Given the description of an element on the screen output the (x, y) to click on. 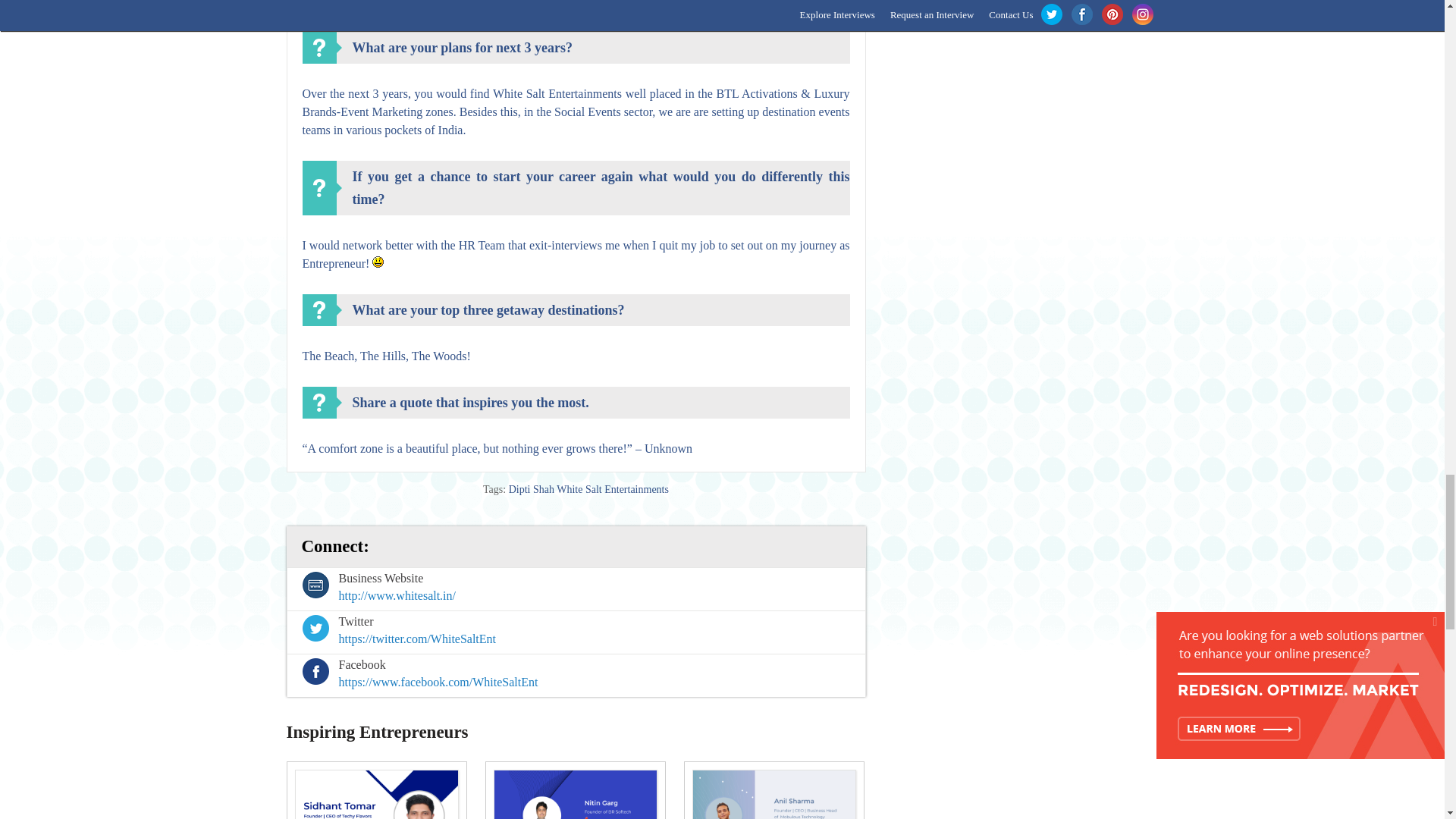
Dipti Shah White Salt Entertainments (588, 489)
